Given the description of an element on the screen output the (x, y) to click on. 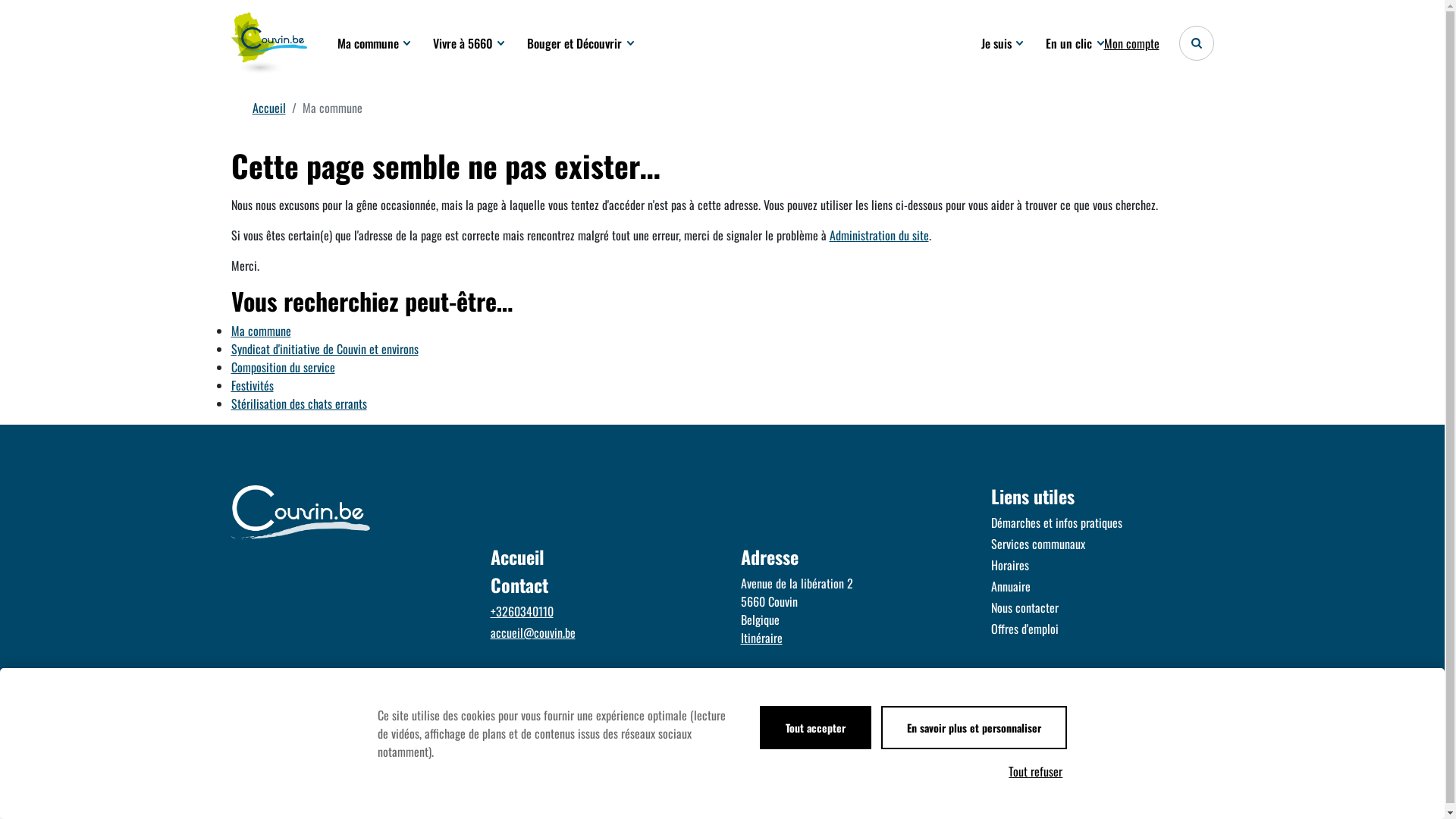
Composition du service Element type: text (282, 366)
Syndicat d'initiative de Couvin et environs Element type: text (323, 348)
+3260340110 Element type: text (596, 611)
Tout accepter Element type: text (815, 727)
Gestion des cookies Element type: text (640, 802)
Je suis Element type: text (1001, 43)
accueil@couvin.be Element type: text (596, 632)
Horaires Element type: text (1097, 564)
Commune de Couvin Element type: hover (268, 43)
Offres d'emploi Element type: text (1097, 628)
En un clic Element type: text (1074, 43)
Mon compte Element type: text (1131, 43)
Nous contacter Element type: text (1097, 607)
IMIO Element type: text (929, 802)
Annuaire Element type: text (1097, 586)
licence libre Element type: text (994, 802)
Rechercher Element type: text (1195, 42)
Tout refuser Element type: text (1035, 771)
Connexion agent Element type: text (725, 802)
Ma commune Element type: text (372, 43)
Ma commune Element type: text (260, 330)
Administration du site Element type: text (878, 234)
Services communaux Element type: text (1097, 543)
Accueil Element type: text (268, 107)
En savoir plus et personnaliser Element type: text (973, 727)
